Given the description of an element on the screen output the (x, y) to click on. 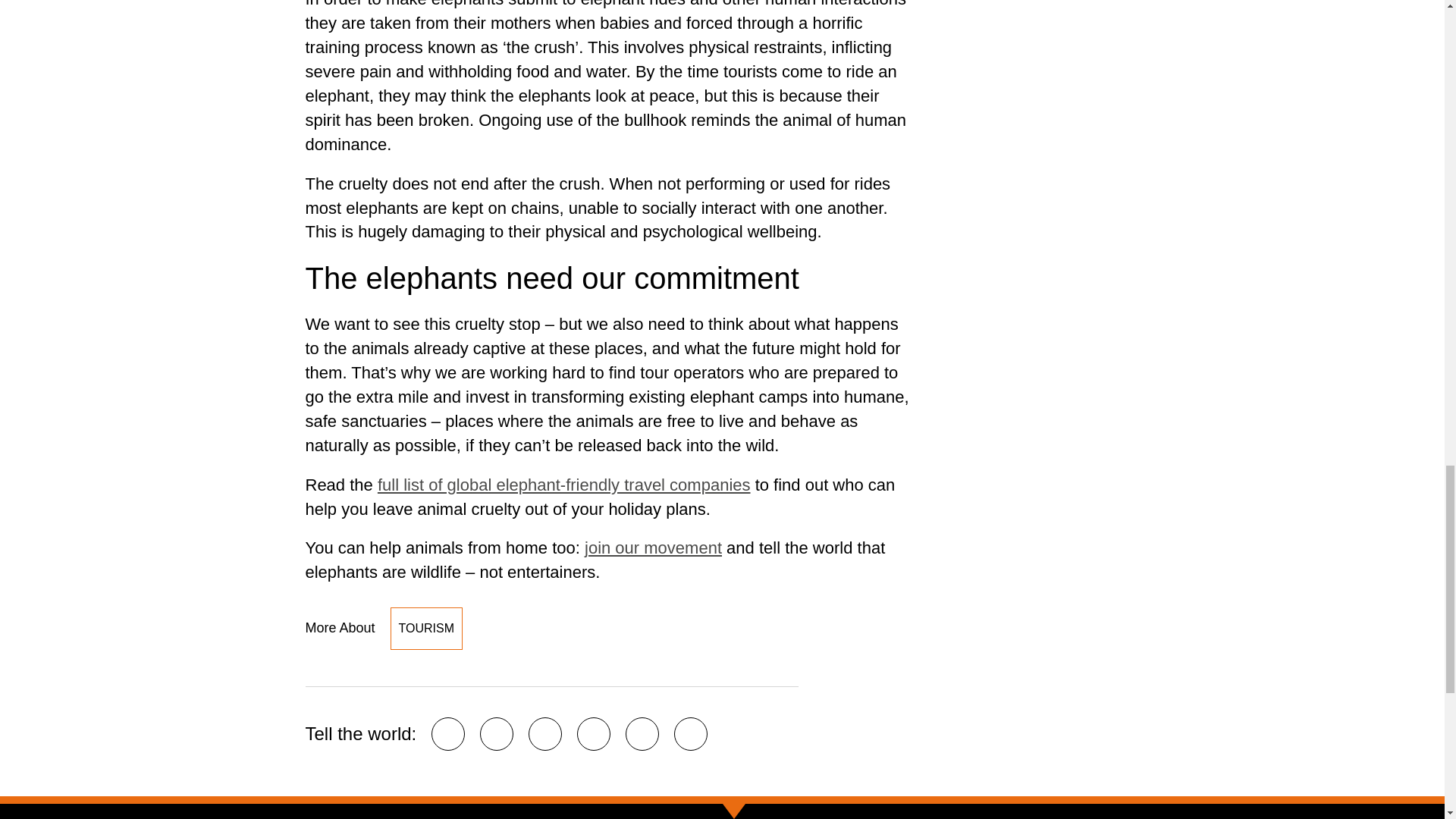
join our movement (653, 547)
full list of global elephant-friendly travel companies (564, 484)
TOURISM (426, 628)
